Given the description of an element on the screen output the (x, y) to click on. 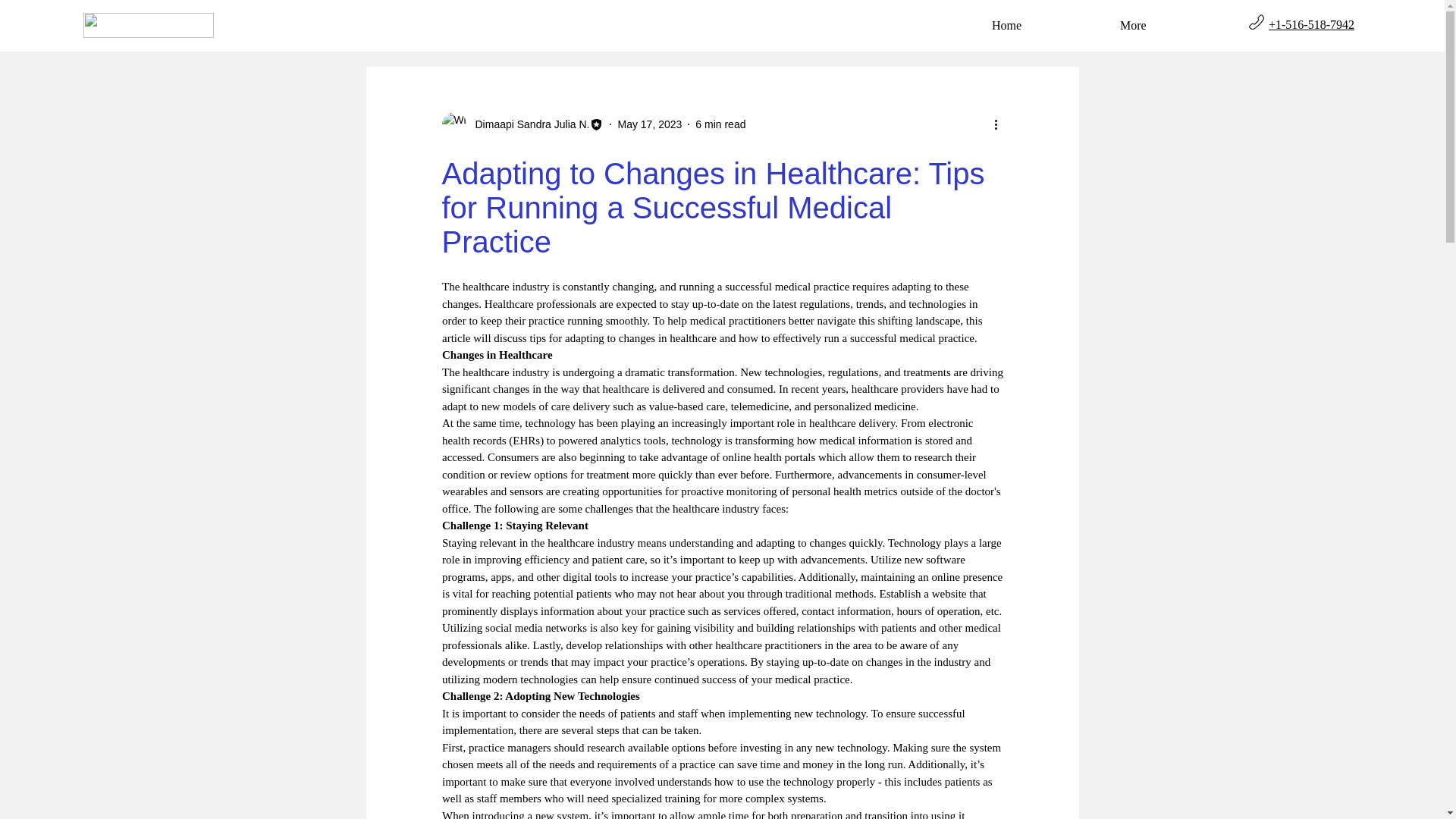
Dimaapi Sandra Julia N. (527, 124)
Dimaapi Sandra Julia N. (522, 124)
6 min read (720, 123)
Home (1043, 25)
May 17, 2023 (649, 123)
